Given the description of an element on the screen output the (x, y) to click on. 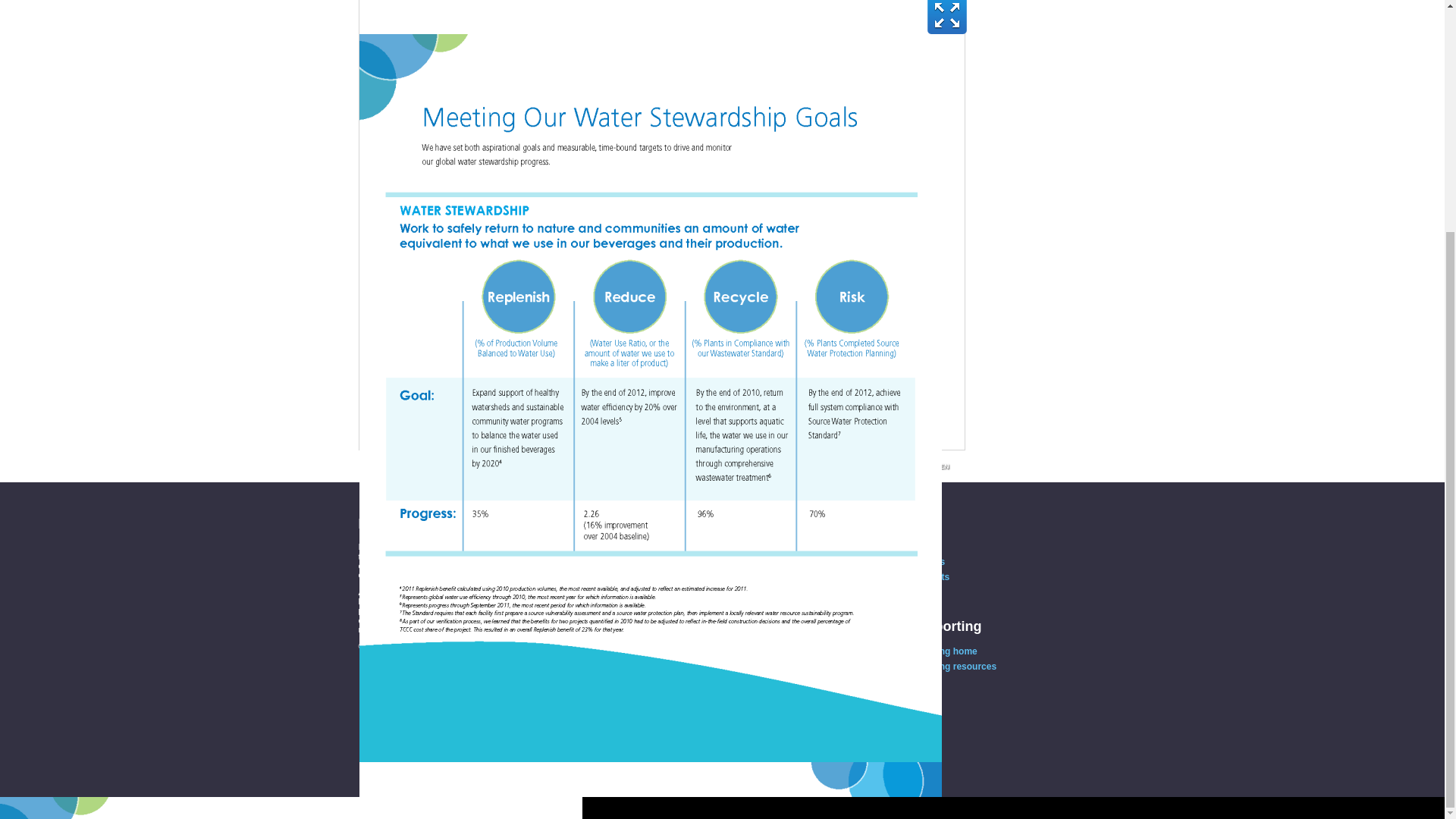
Contact us (386, 673)
Home (869, 546)
Featured practices (897, 561)
VIEW FULL SCREEN (914, 466)
Integrated reporting home (913, 651)
Recognised reports (900, 576)
Menu (868, 521)
Website terms of use (406, 655)
Integrated reporting (916, 626)
Reporters (879, 592)
